Given the description of an element on the screen output the (x, y) to click on. 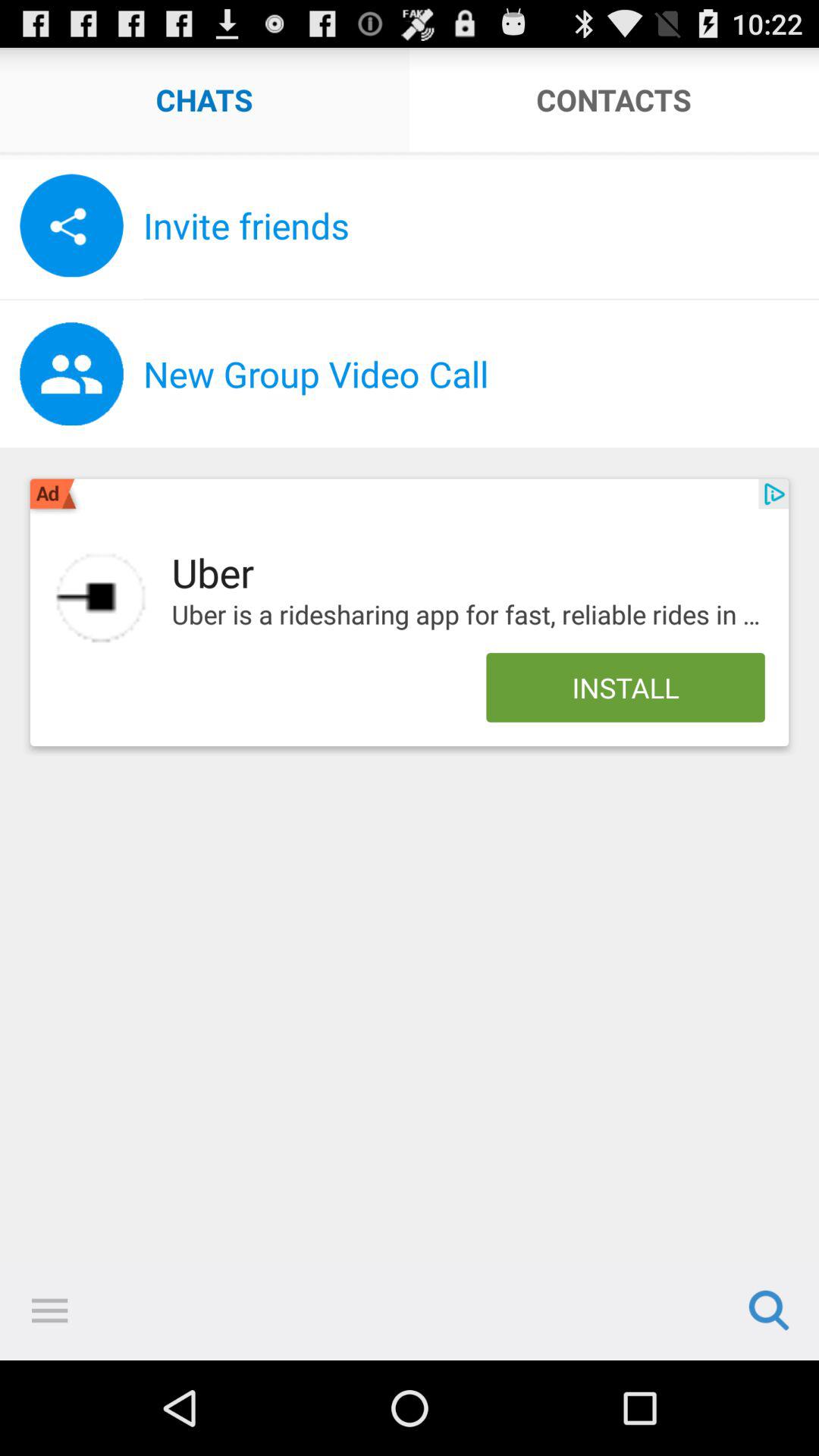
turn off icon below chats app (409, 155)
